Given the description of an element on the screen output the (x, y) to click on. 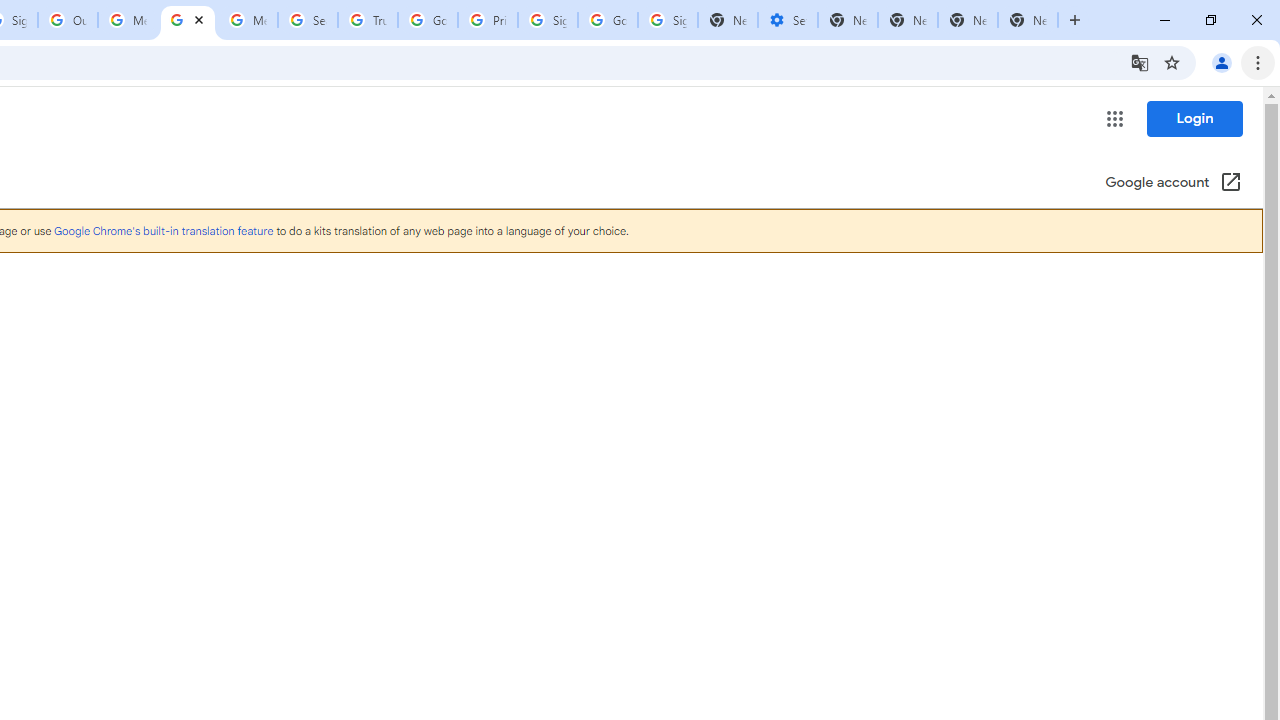
How do I create a new Google Account? - Google Account Help (187, 20)
Google Account (Opens in new window) (1173, 183)
Settings - Performance (787, 20)
Login (1194, 118)
Google Cybersecurity Innovations - Google Safety Center (607, 20)
Trusted Information and Content - Google Safety Center (367, 20)
